Given the description of an element on the screen output the (x, y) to click on. 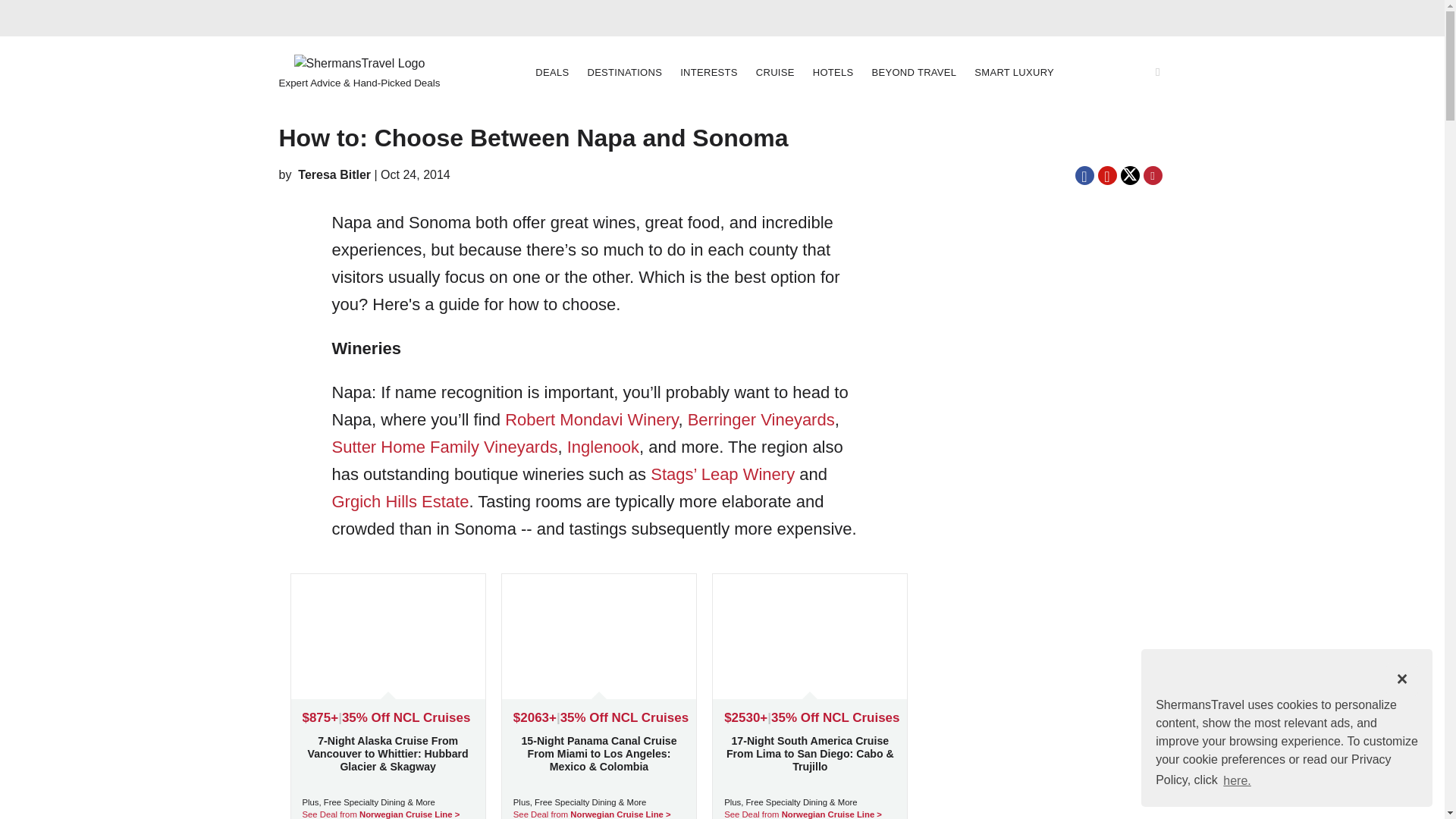
CRUISE (774, 72)
here. (1237, 780)
BEYOND TRAVEL (914, 72)
Grgich Hills Estate (399, 501)
DEALS (551, 72)
SMART LUXURY (1013, 72)
Robert Mondavi Winery (591, 419)
Inglenook (603, 446)
INTERESTS (708, 72)
DESTINATIONS (624, 72)
